Given the description of an element on the screen output the (x, y) to click on. 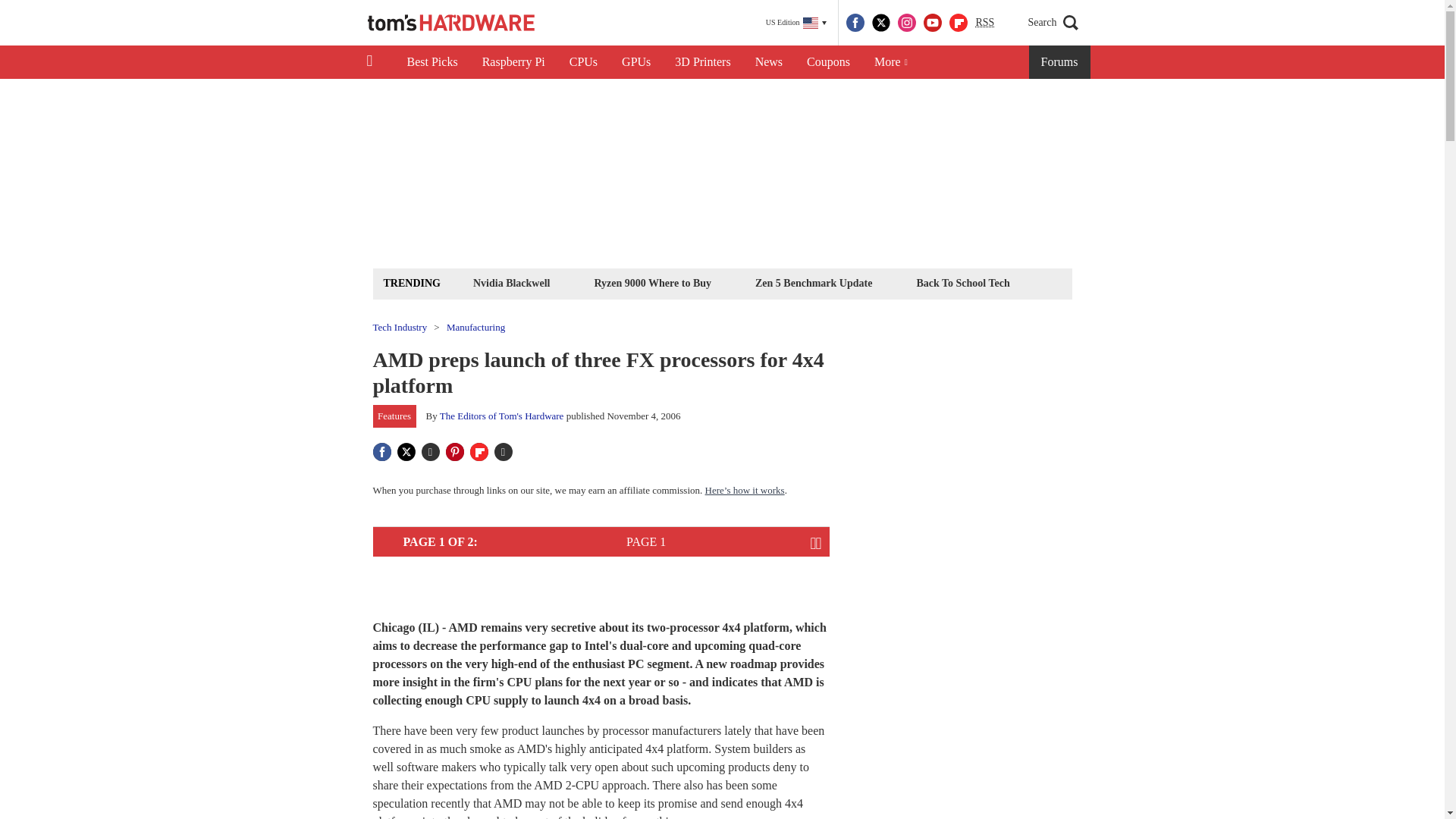
3D Printers (702, 61)
Forums (1059, 61)
Raspberry Pi (513, 61)
RSS (984, 22)
Really Simple Syndication (984, 21)
Coupons (827, 61)
CPUs (583, 61)
GPUs (636, 61)
Best Picks (431, 61)
News (768, 61)
